Given the description of an element on the screen output the (x, y) to click on. 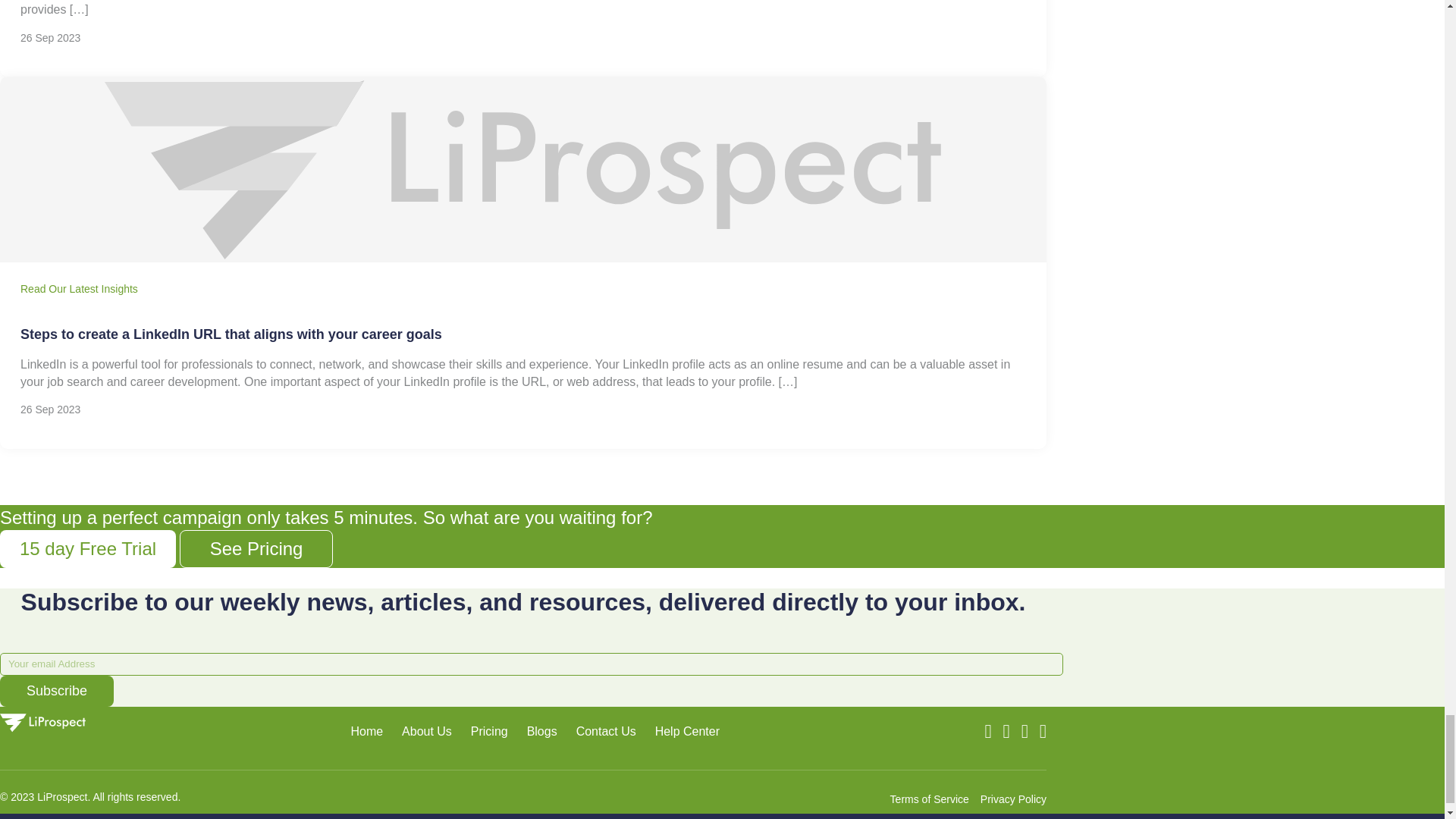
Pricing (489, 730)
About Us (426, 730)
Contact Us (606, 730)
15 day Free Trial (88, 548)
Home (366, 730)
See Pricing (256, 548)
Read Our Latest Insights (79, 288)
Help Center (687, 730)
Blogs (542, 730)
Subscribe (56, 690)
